Given the description of an element on the screen output the (x, y) to click on. 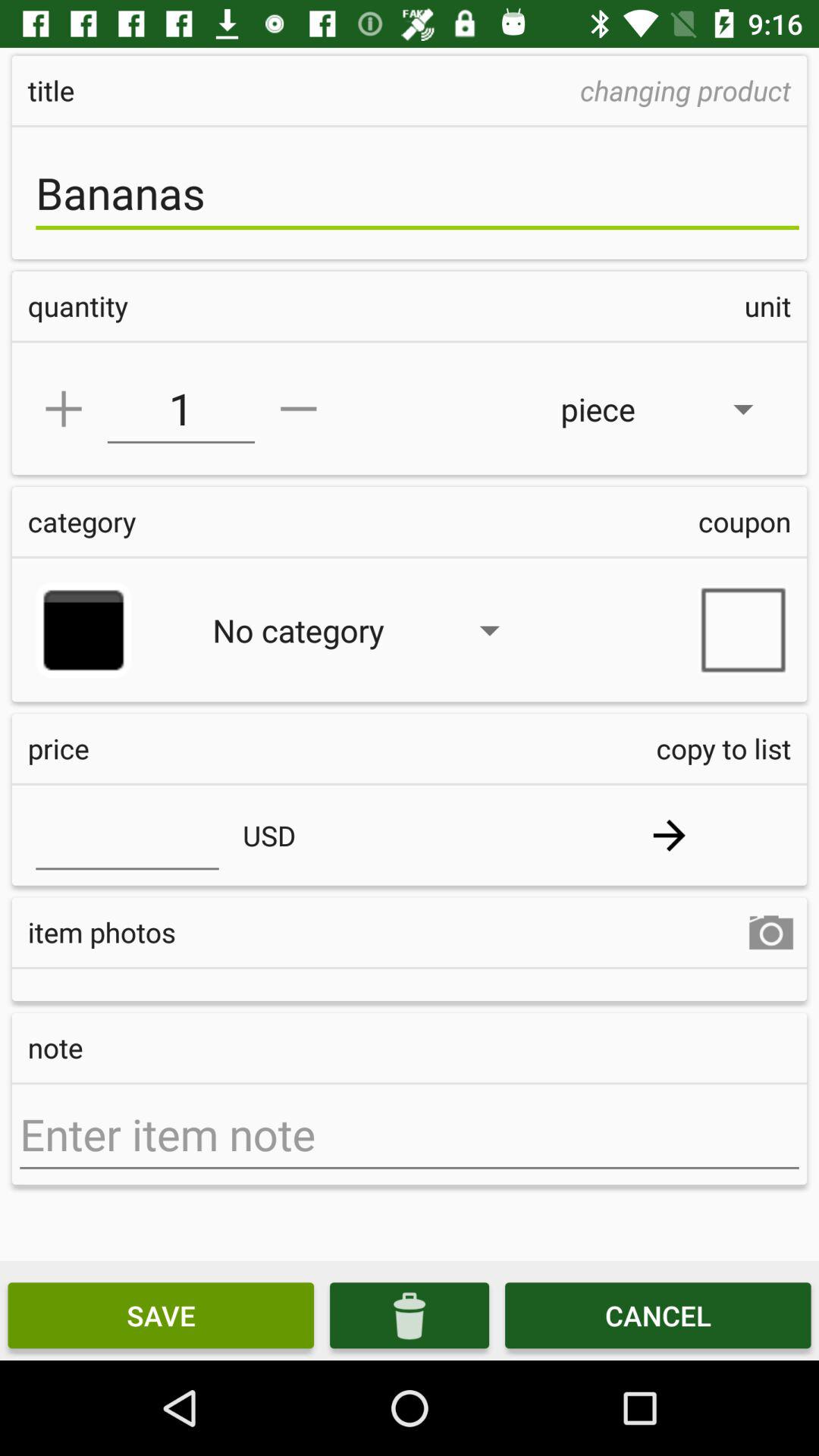
click to add symbol (63, 408)
